Given the description of an element on the screen output the (x, y) to click on. 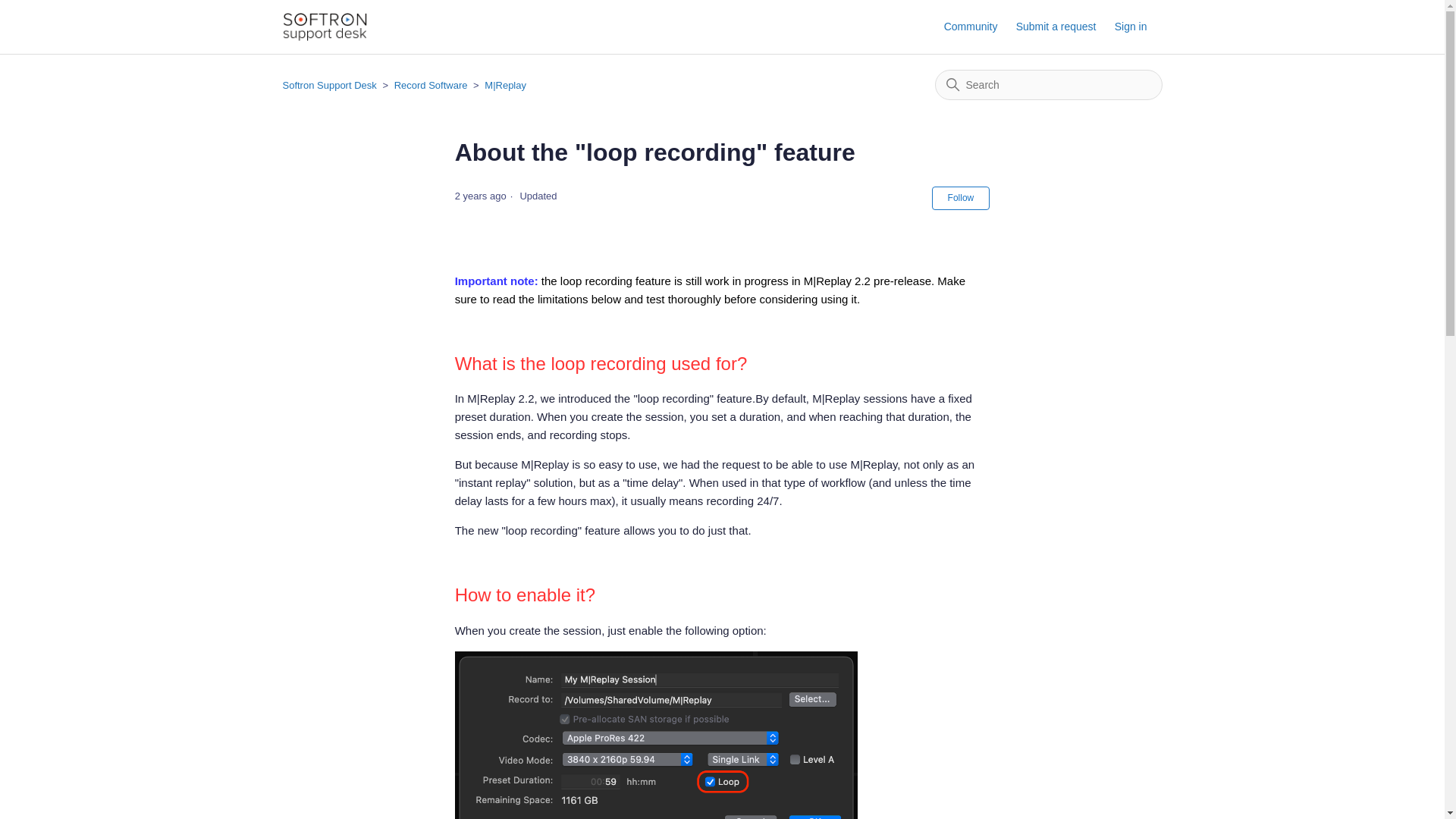
Sign in (1138, 26)
Follow (960, 197)
2022-04-04 20:42 (480, 195)
Record Software (430, 84)
Softron Support Desk (328, 84)
Home (324, 26)
Opens a dialog (1138, 26)
Opens a widget where you can find more information (1374, 792)
About the "loop recording" feature (722, 152)
Softron Support Desk (330, 84)
Community (978, 26)
Record Software (424, 84)
Submit a request (1064, 26)
